Given the description of an element on the screen output the (x, y) to click on. 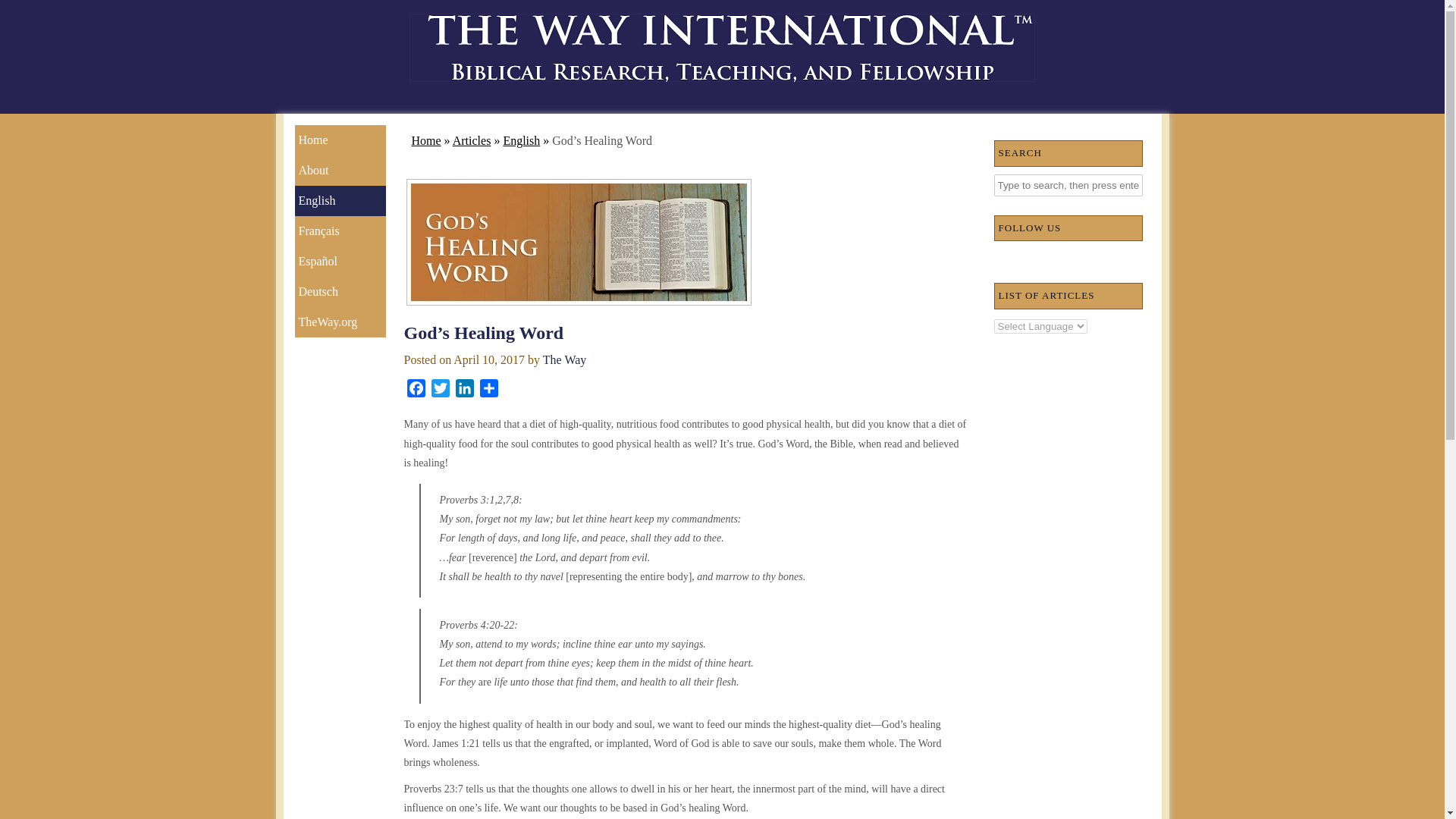
Home (425, 140)
LinkedIn (463, 390)
LinkedIn (463, 390)
English (339, 200)
Instagram (1055, 259)
Pinterest (1128, 259)
Search (23, 10)
Home (339, 140)
LinkedIn (1079, 259)
Twitter (439, 390)
